Given the description of an element on the screen output the (x, y) to click on. 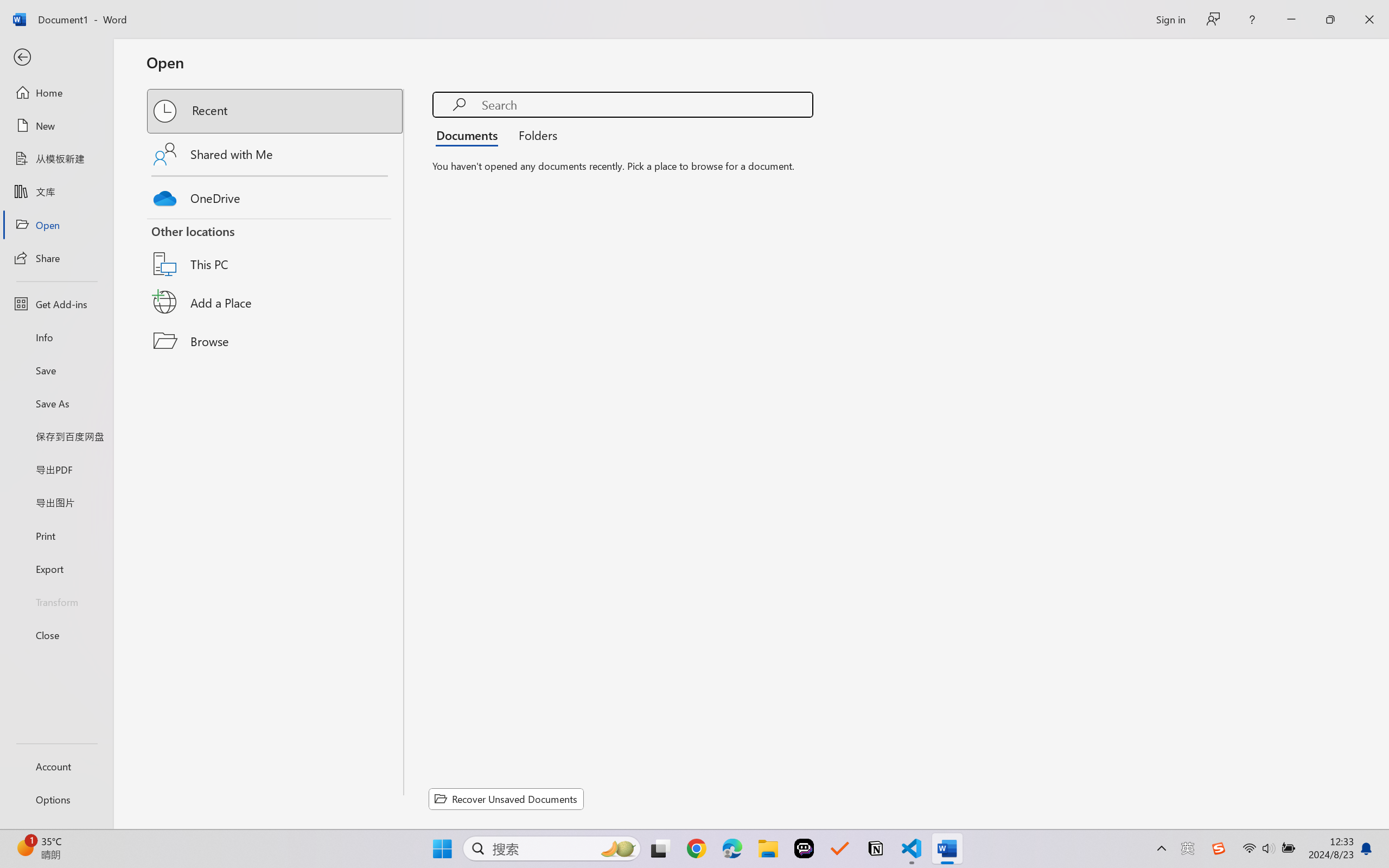
Browse (275, 340)
New (56, 125)
Print (56, 535)
Transform (56, 601)
Recent (275, 110)
Back (56, 57)
Folders (534, 134)
